Given the description of an element on the screen output the (x, y) to click on. 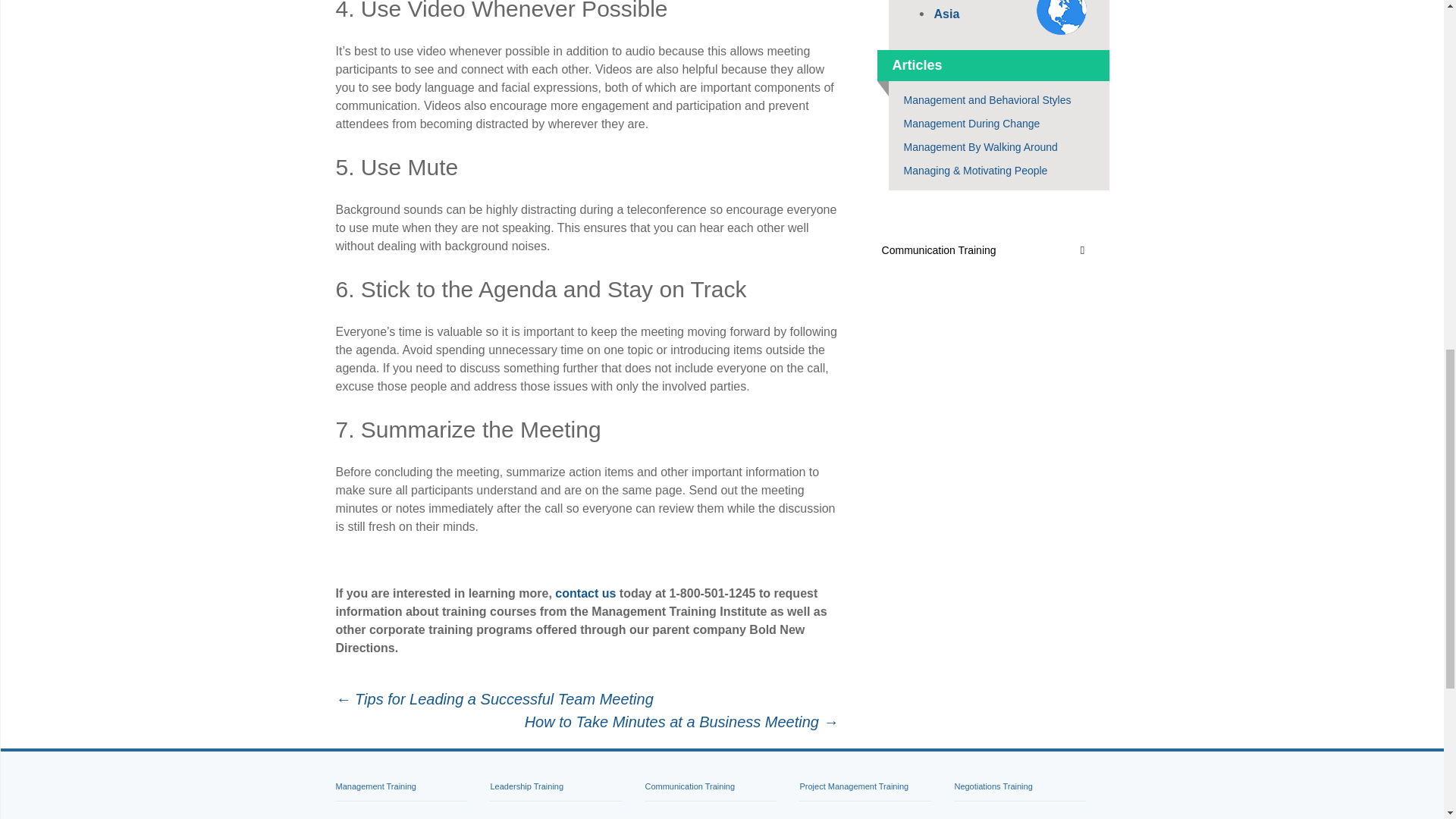
Asia (946, 13)
Management During Change (972, 123)
Management and Behavioral Styles (987, 100)
Managing By Walking Around (981, 146)
